Given the description of an element on the screen output the (x, y) to click on. 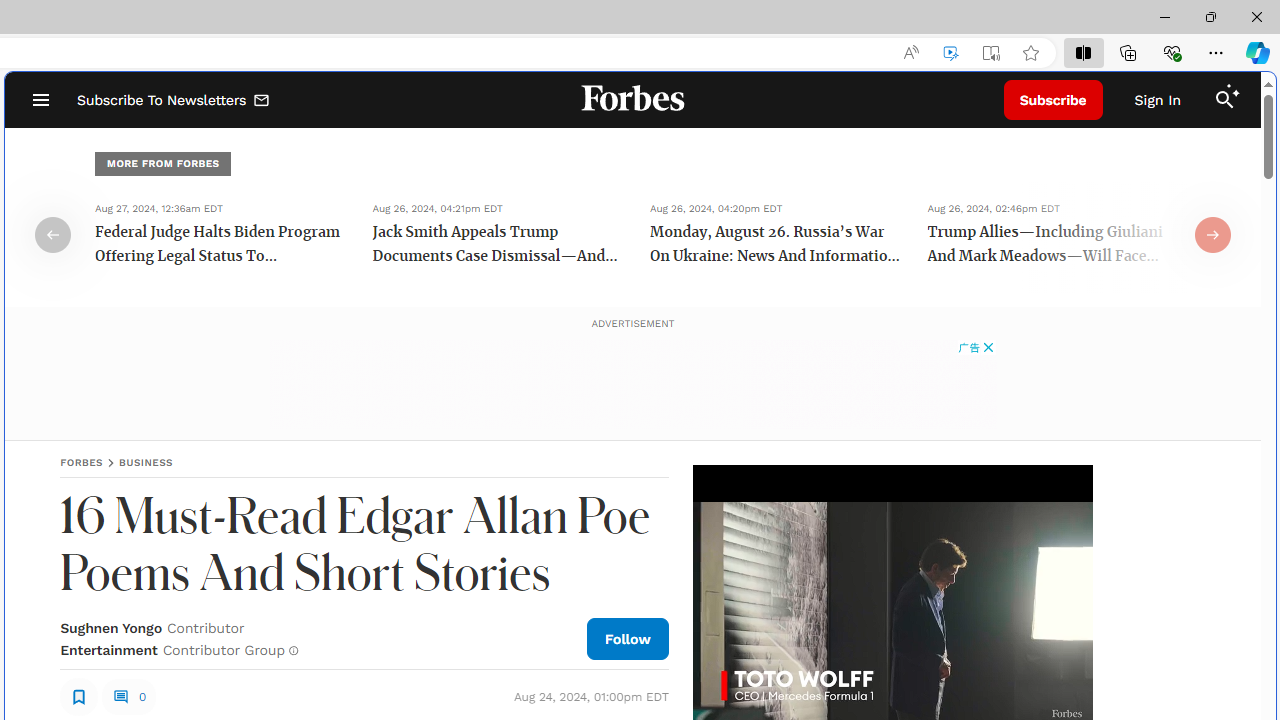
Sign In (1157, 100)
Subscribe (1053, 99)
Class: sparkles_svg__fs-icon sparkles_svg__fs-icon--sparkles (1233, 91)
Enhance video (950, 53)
Entertainment (108, 649)
Arrow Right (1213, 234)
Class: envelope_svg__fs-icon envelope_svg__fs-icon--envelope (262, 102)
Forbes Logo (632, 99)
